Given the description of an element on the screen output the (x, y) to click on. 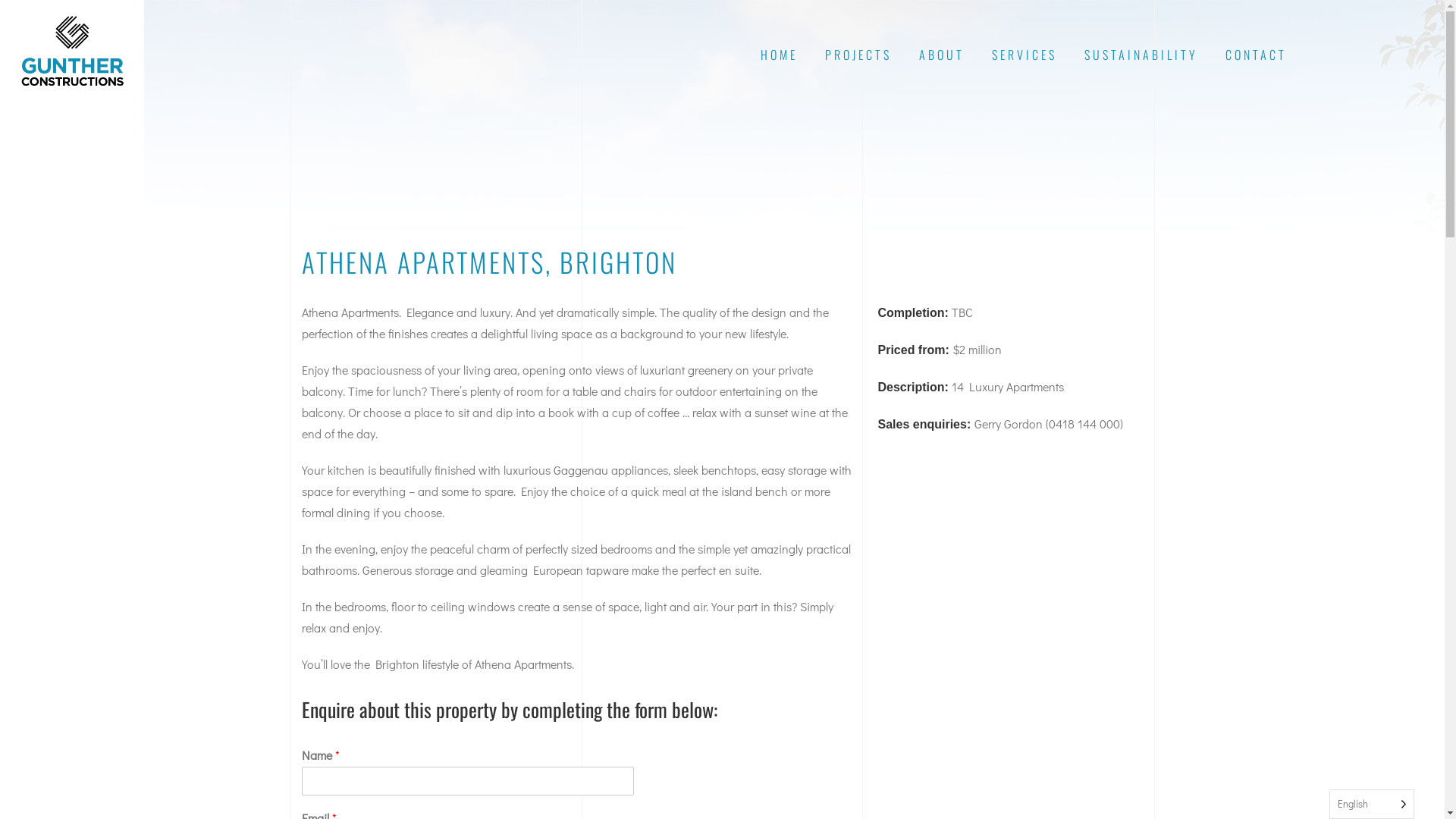
SUSTAINABILITY Element type: text (1141, 54)
HOME Element type: text (778, 54)
PROJECTS Element type: text (858, 54)
ABOUT Element type: text (941, 54)
CONTACT Element type: text (1255, 54)
SERVICES Element type: text (1024, 54)
